Given the description of an element on the screen output the (x, y) to click on. 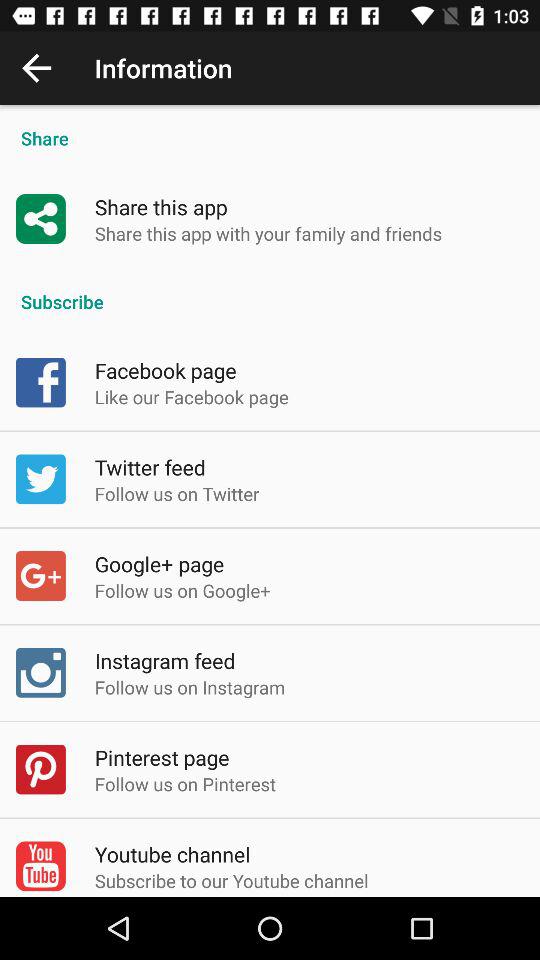
open the icon to the left of the information icon (36, 68)
